Given the description of an element on the screen output the (x, y) to click on. 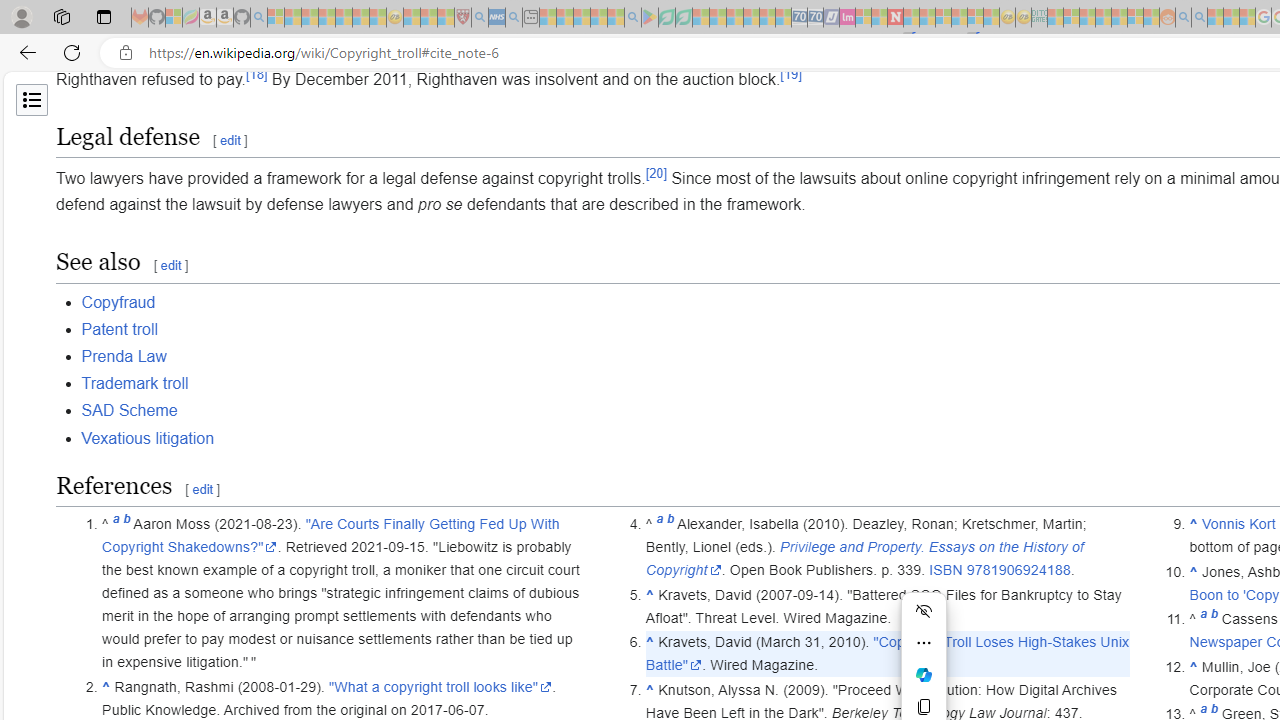
Utah sues federal government - Search - Sleeping (1199, 17)
Trademark troll (134, 384)
[20] (655, 172)
9781906924188 (1018, 570)
Kinda Frugal - MSN - Sleeping (1119, 17)
Copyfraud (118, 302)
"What a copyright troll looks like" (440, 686)
